Given the description of an element on the screen output the (x, y) to click on. 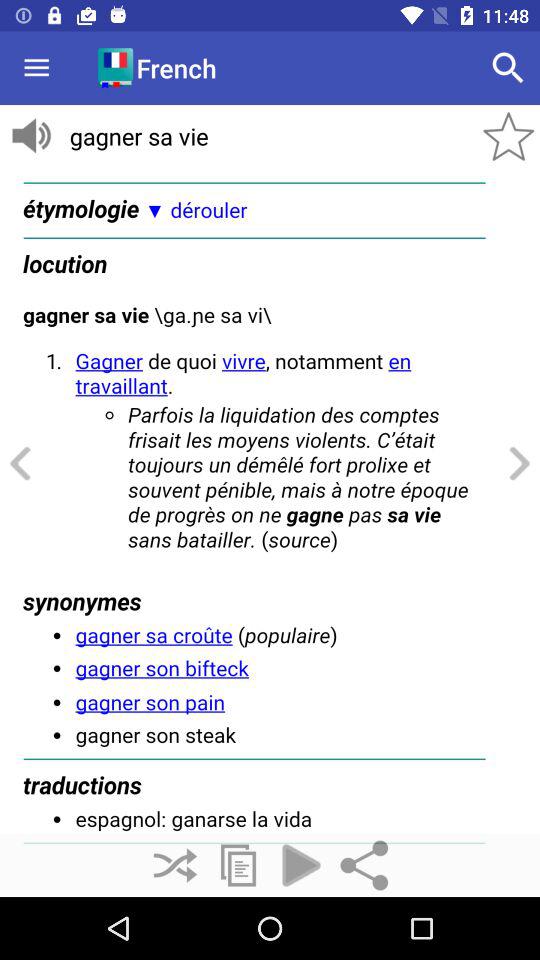
view page (270, 501)
